Given the description of an element on the screen output the (x, y) to click on. 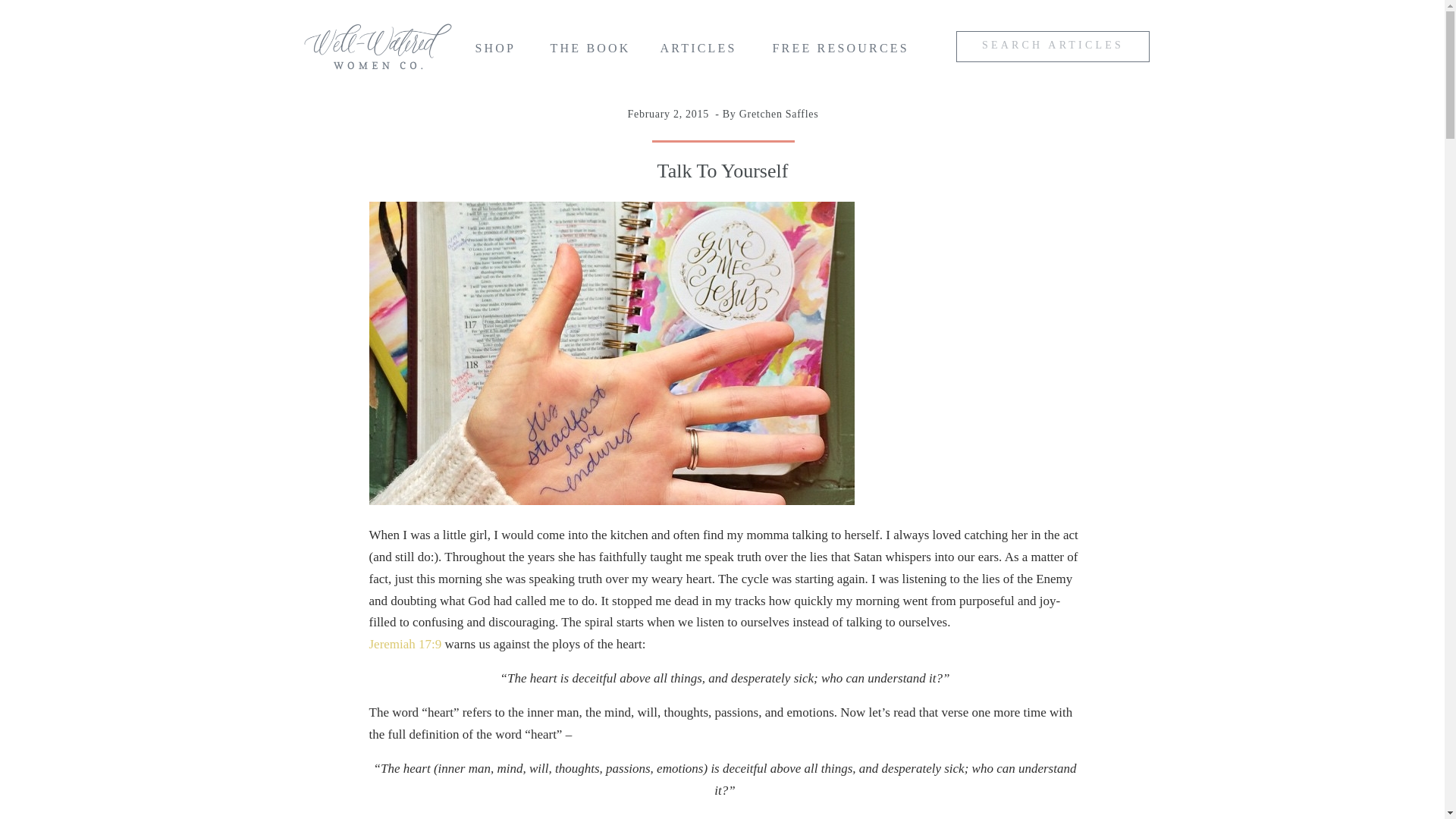
SHOP (500, 52)
THE BOOK (590, 52)
FREE RESOURCES (843, 52)
ARTICLES (700, 52)
Jeremiah 17:9 (404, 644)
